Given the description of an element on the screen output the (x, y) to click on. 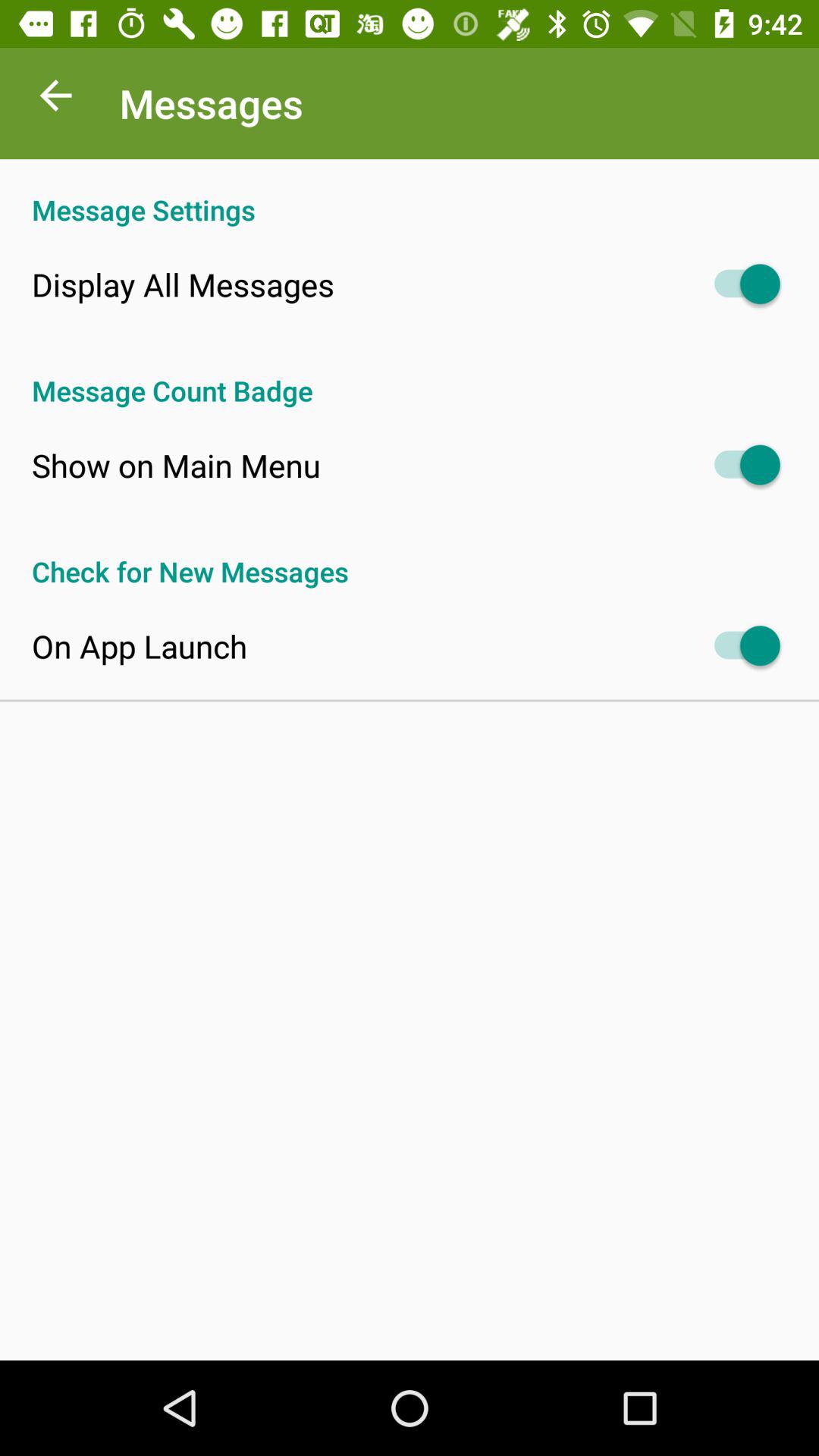
scroll until the message settings (409, 193)
